Given the description of an element on the screen output the (x, y) to click on. 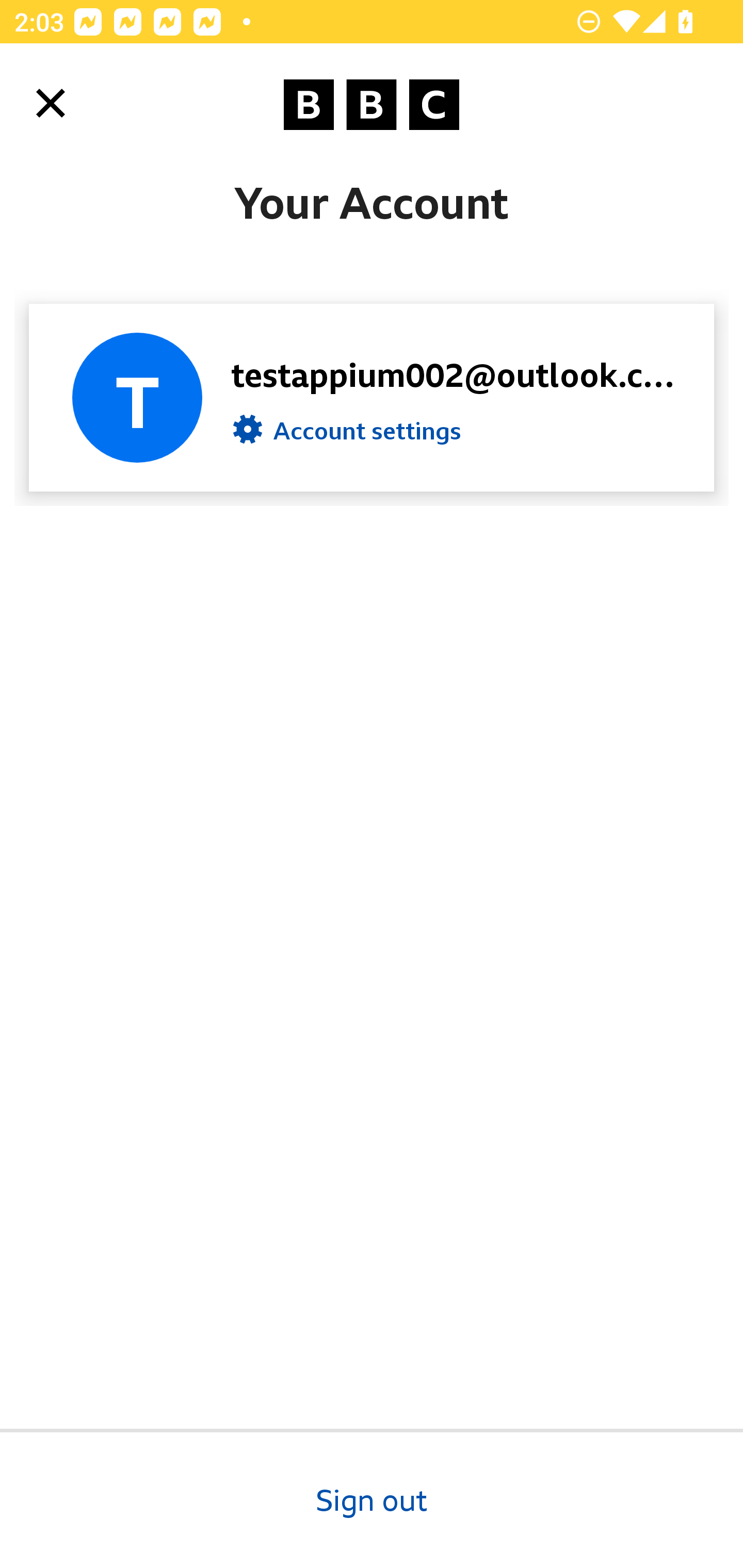
Close (50, 103)
testappium002@outlook.com Account settings (371, 397)
Account settings (346, 433)
Sign out (371, 1498)
